Given the description of an element on the screen output the (x, y) to click on. 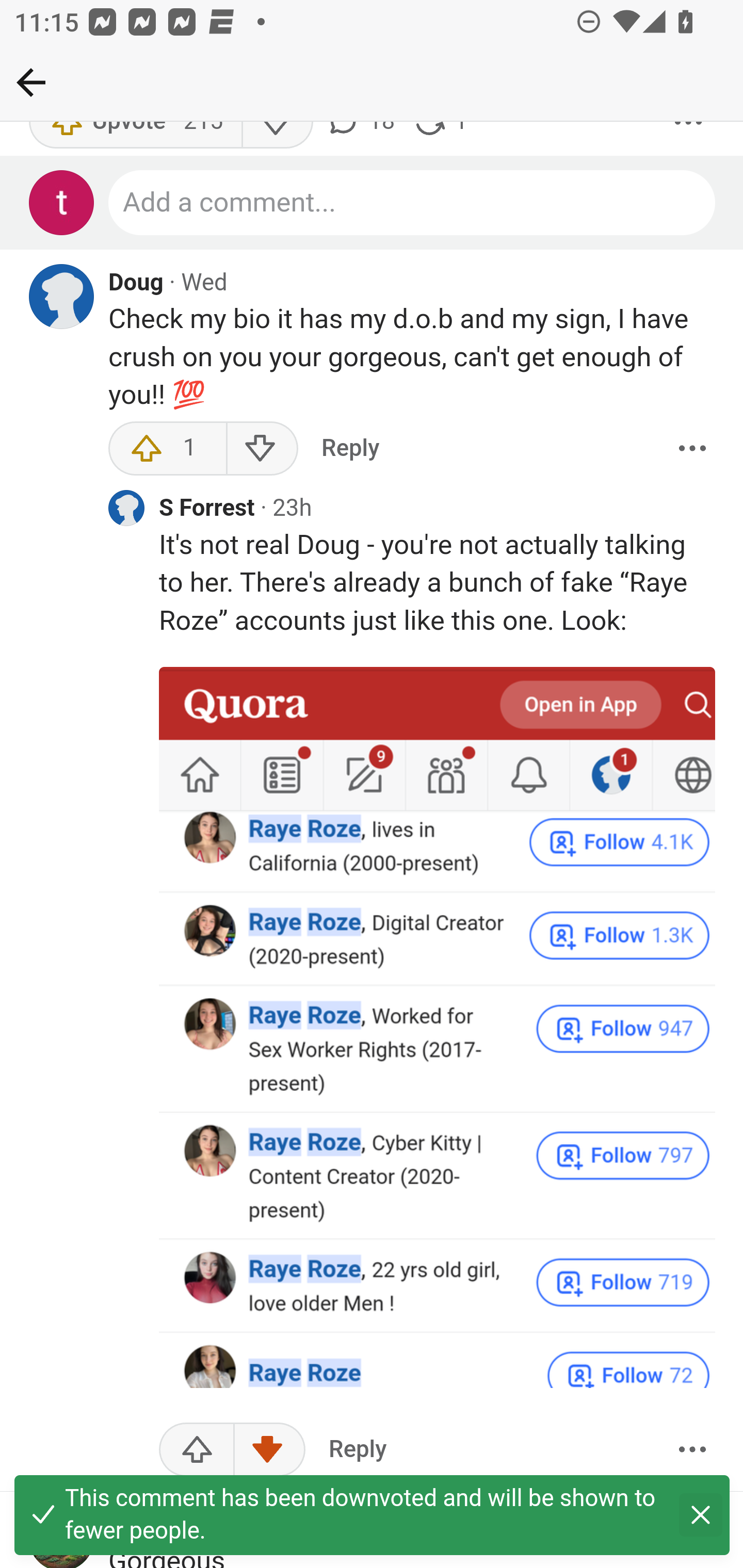
Back (30, 82)
Profile photo for Test Appium (61, 204)
Add a comment... (412, 204)
Profile photo for Doug (61, 297)
Doug (136, 284)
1 upvote (167, 448)
Downvote (261, 448)
Reply (350, 448)
More (691, 448)
Profile photo for S Forrest (126, 508)
S Forrest (207, 510)
main-qimg-0530b6167fb11ecca770947b68254faf (437, 1028)
Upvote (196, 1450)
Downvote (268, 1450)
Reply (357, 1450)
More (691, 1450)
